Given the description of an element on the screen output the (x, y) to click on. 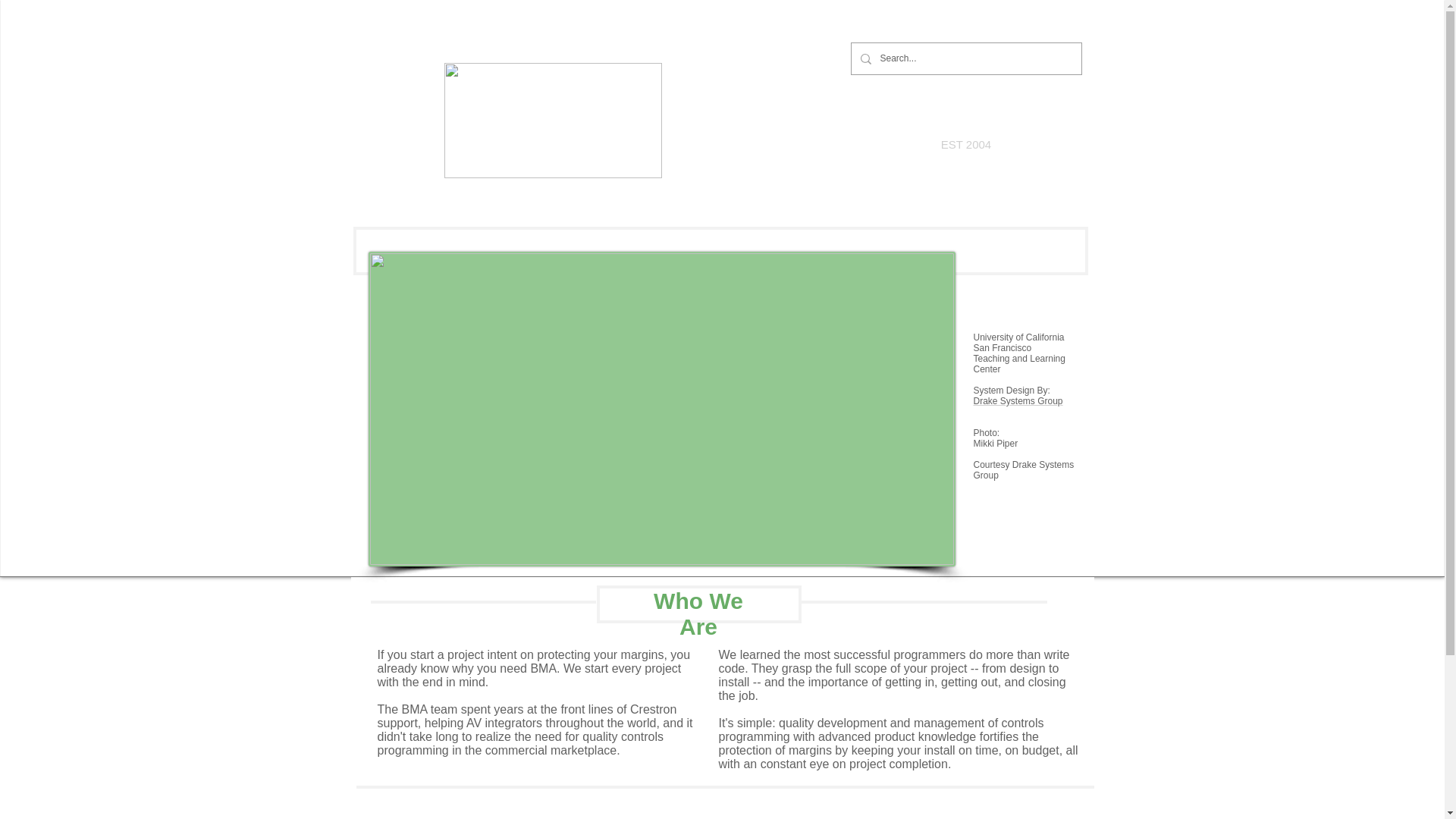
Drake Systems Group (1018, 400)
